Given the description of an element on the screen output the (x, y) to click on. 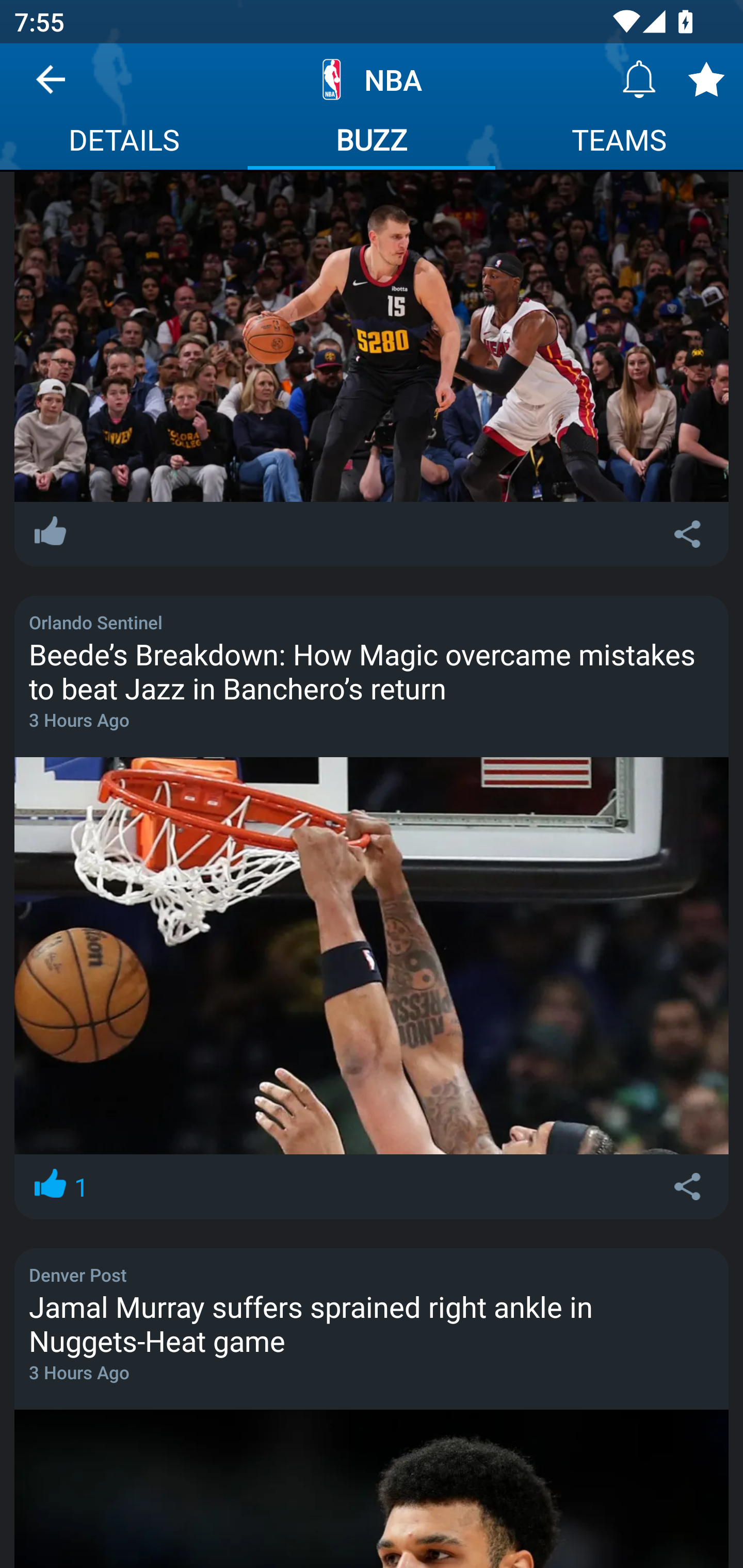
Navigate up (50, 86)
DETAILS (123, 142)
BUZZ (371, 142)
TEAMS (619, 142)
1 (58, 1186)
